Given the description of an element on the screen output the (x, y) to click on. 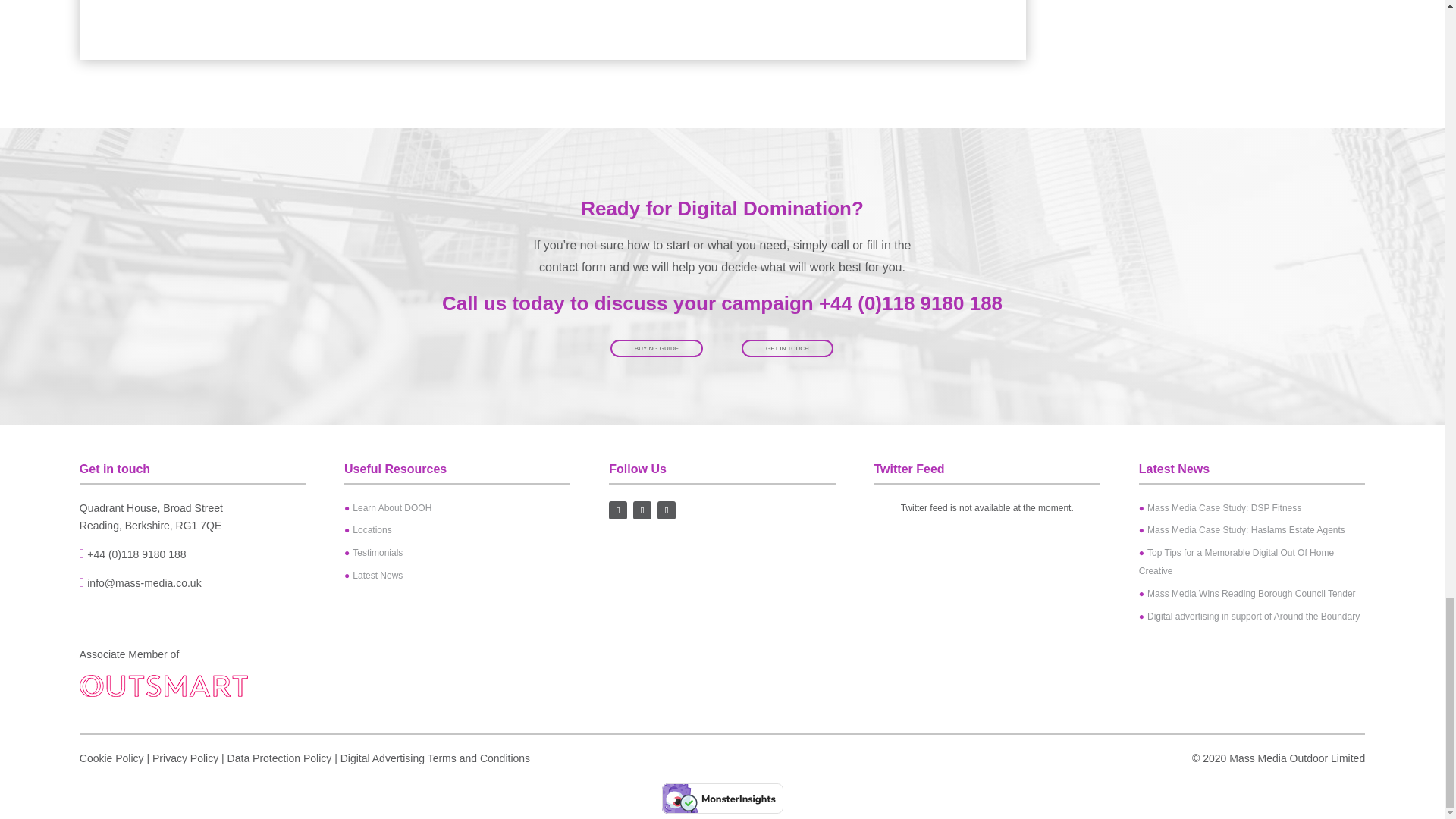
BUYING GUIDE (656, 347)
GET IN TOUCH (786, 347)
Verified by MonsterInsights (722, 798)
Follow on Twitter (641, 510)
Follow on LinkedIn (666, 510)
Follow on Facebook (617, 510)
